Given the description of an element on the screen output the (x, y) to click on. 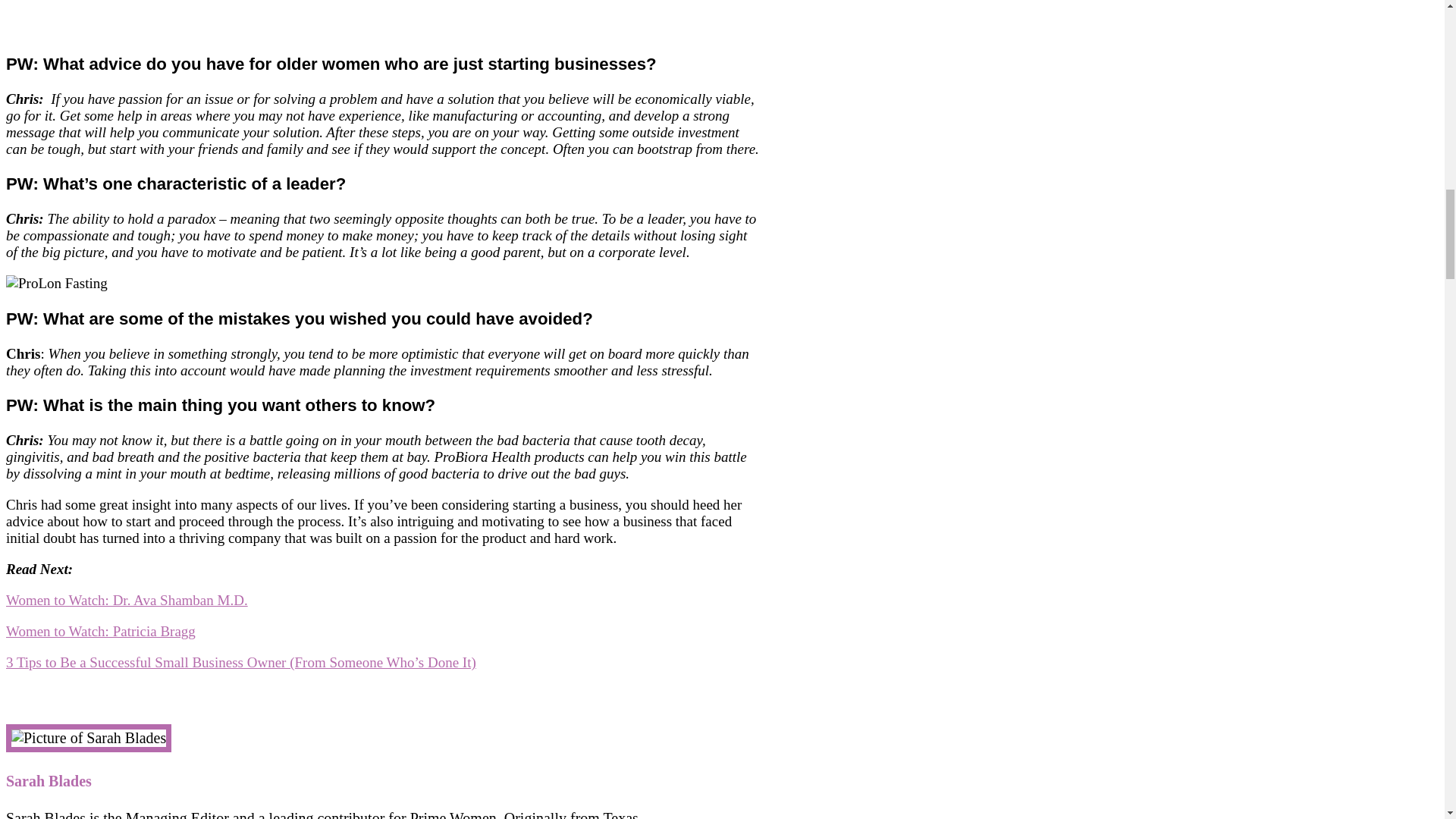
Women to Watch: Patricia Bragg (100, 631)
Women to Watch: Dr. Ava Shamban M.D. (126, 600)
YouTube video player (217, 16)
